Given the description of an element on the screen output the (x, y) to click on. 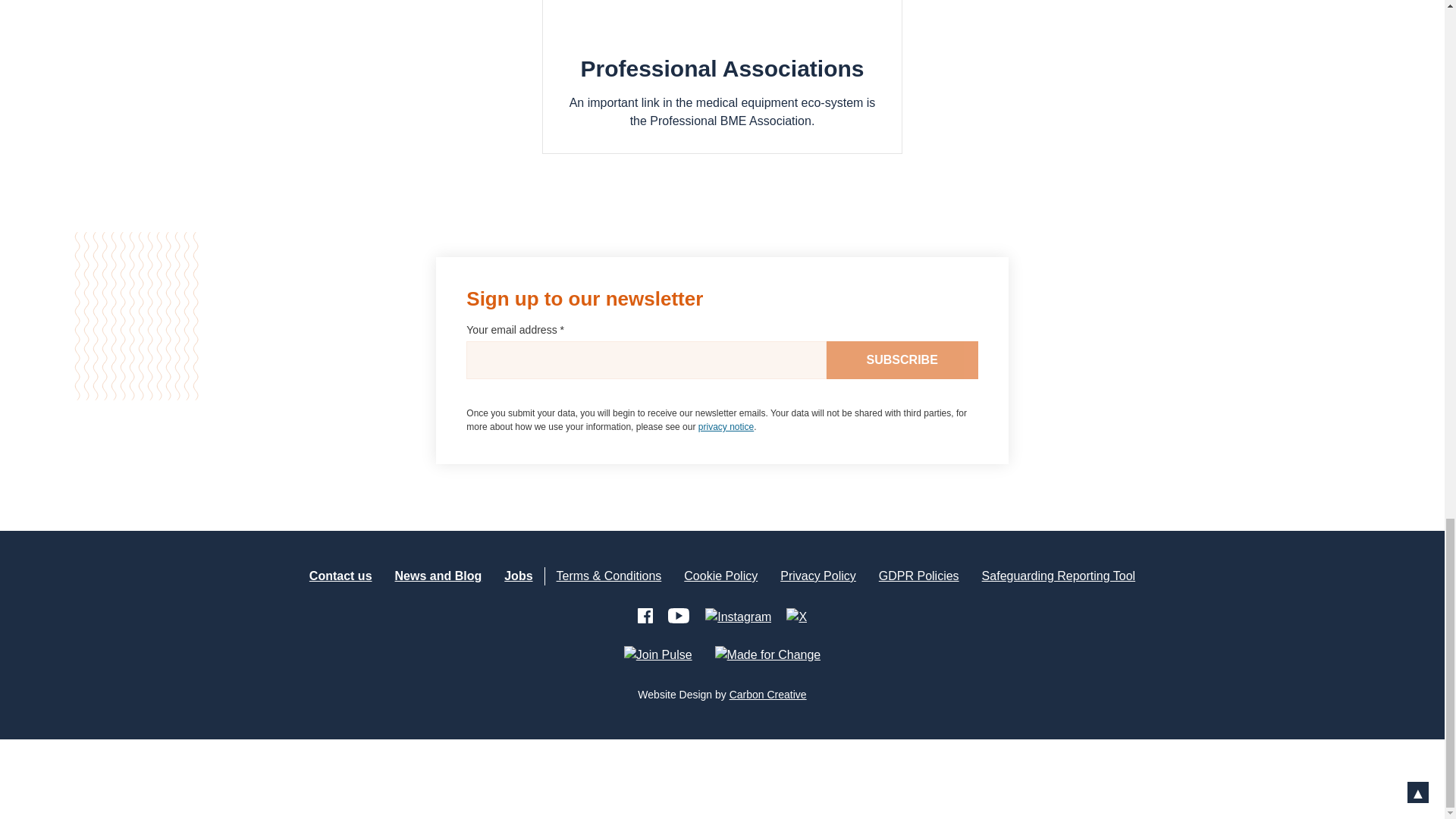
Subscribe (902, 360)
